Given the description of an element on the screen output the (x, y) to click on. 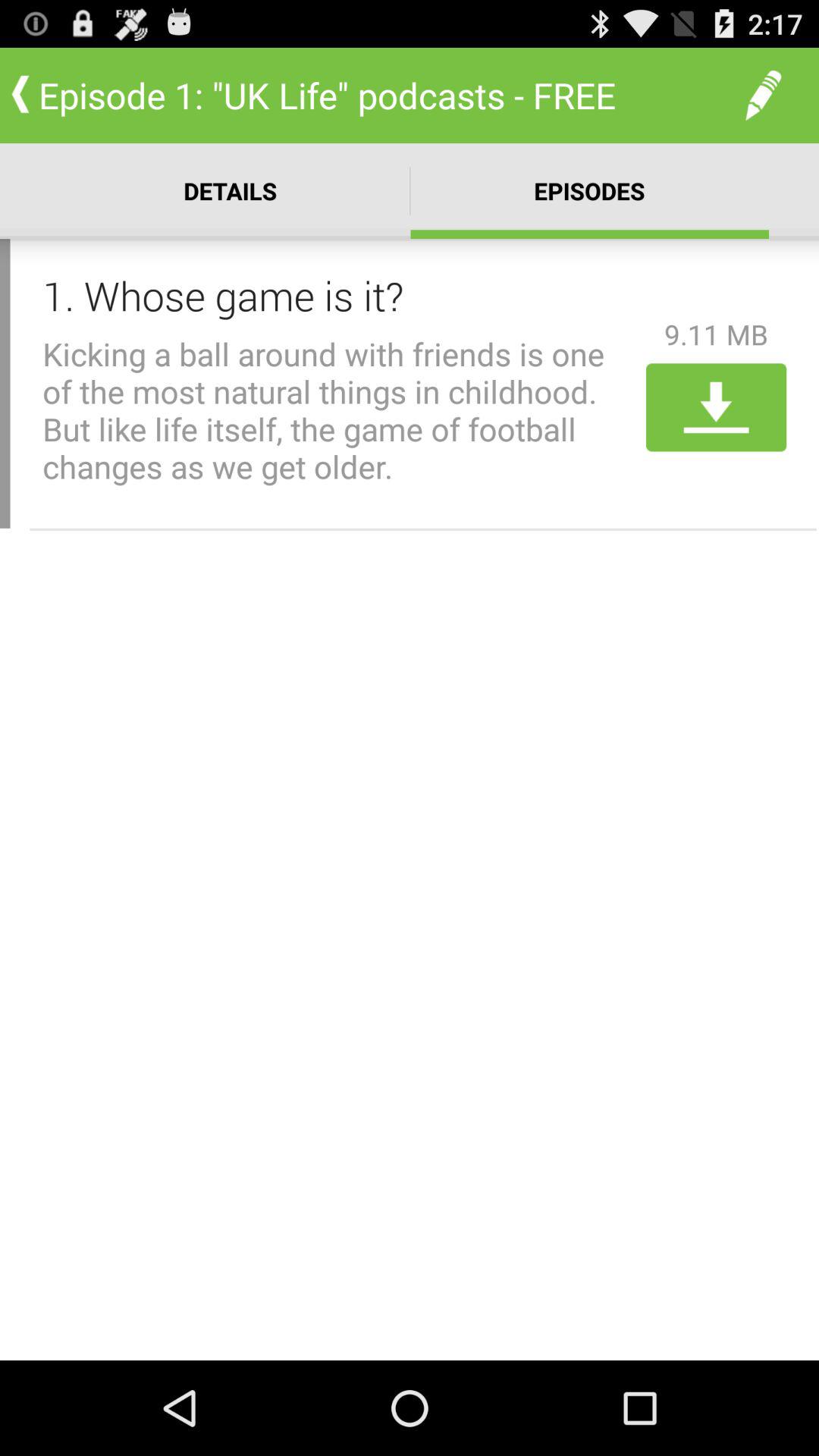
turn on icon to the right of the 1 whose game app (716, 334)
